Given the description of an element on the screen output the (x, y) to click on. 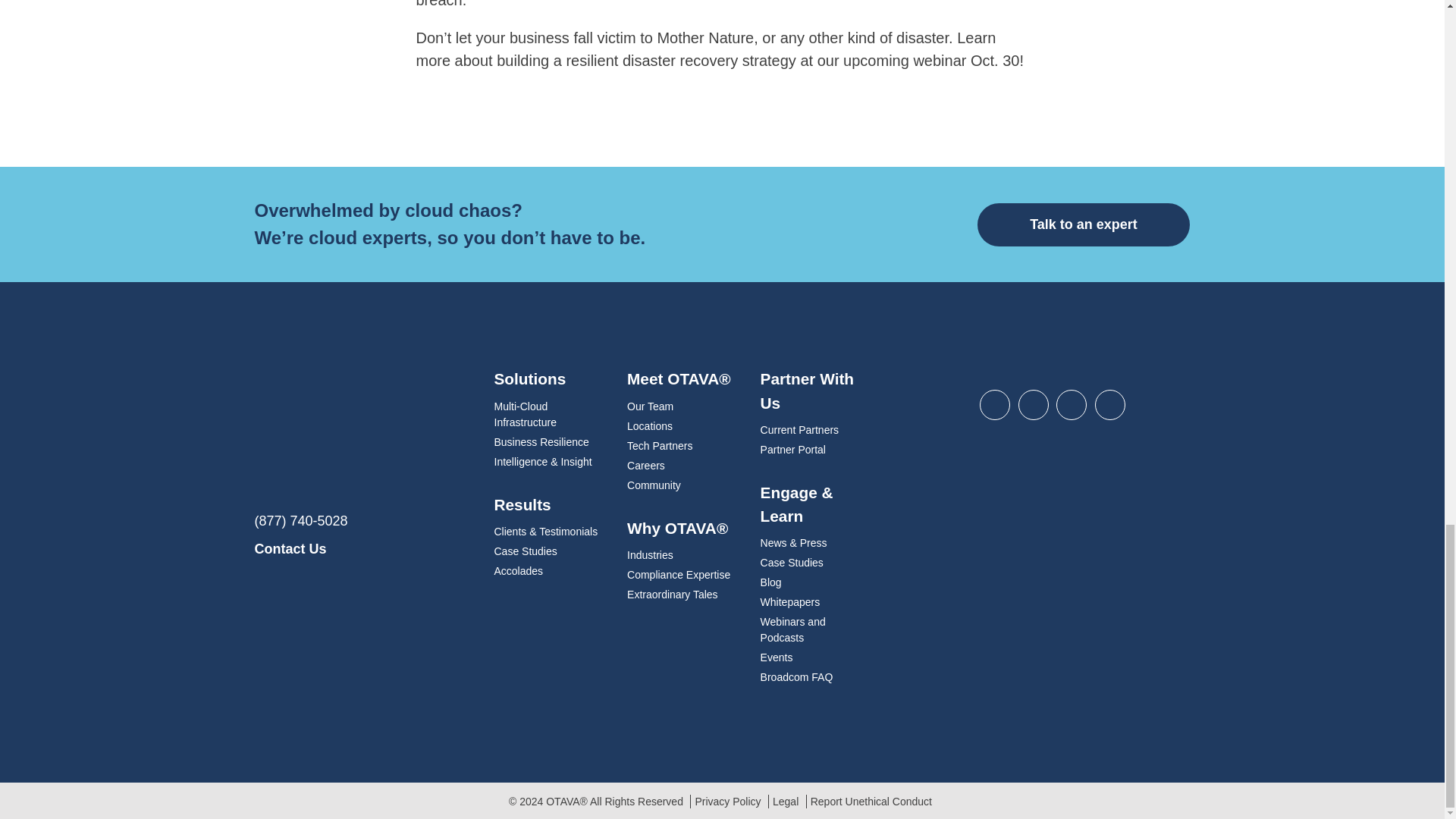
youtube icon (1071, 404)
linkedin icon (994, 404)
twitter icon (1032, 404)
facebook icon (1109, 404)
mainlogo link (362, 423)
